Given the description of an element on the screen output the (x, y) to click on. 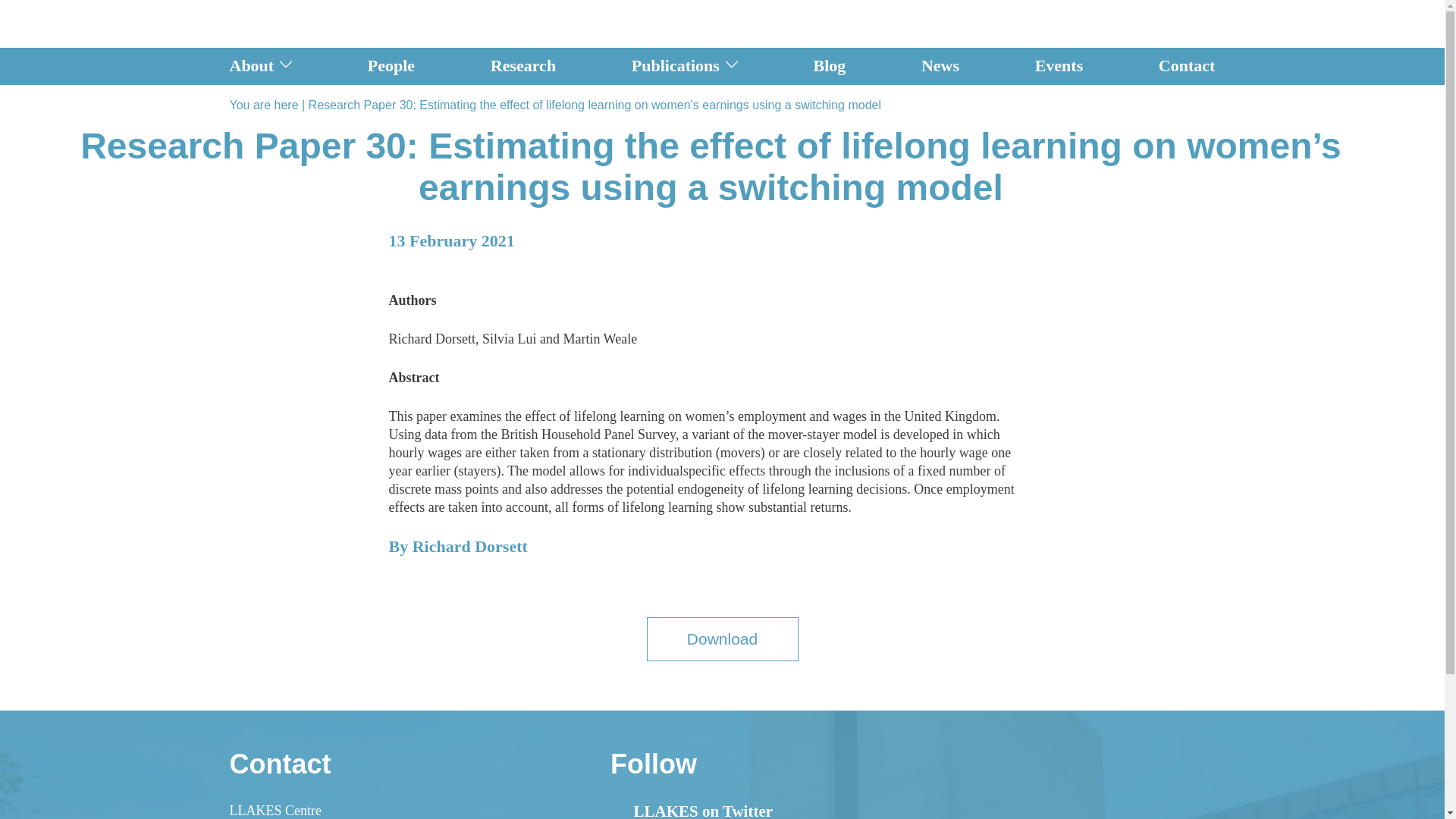
Publications (675, 66)
News (940, 66)
Events (1059, 66)
People (391, 66)
About (250, 66)
LLAKES on Twitter (691, 812)
By Richard Dorsett (457, 553)
Research (523, 66)
Contact (1186, 66)
Blog (829, 66)
